Given the description of an element on the screen output the (x, y) to click on. 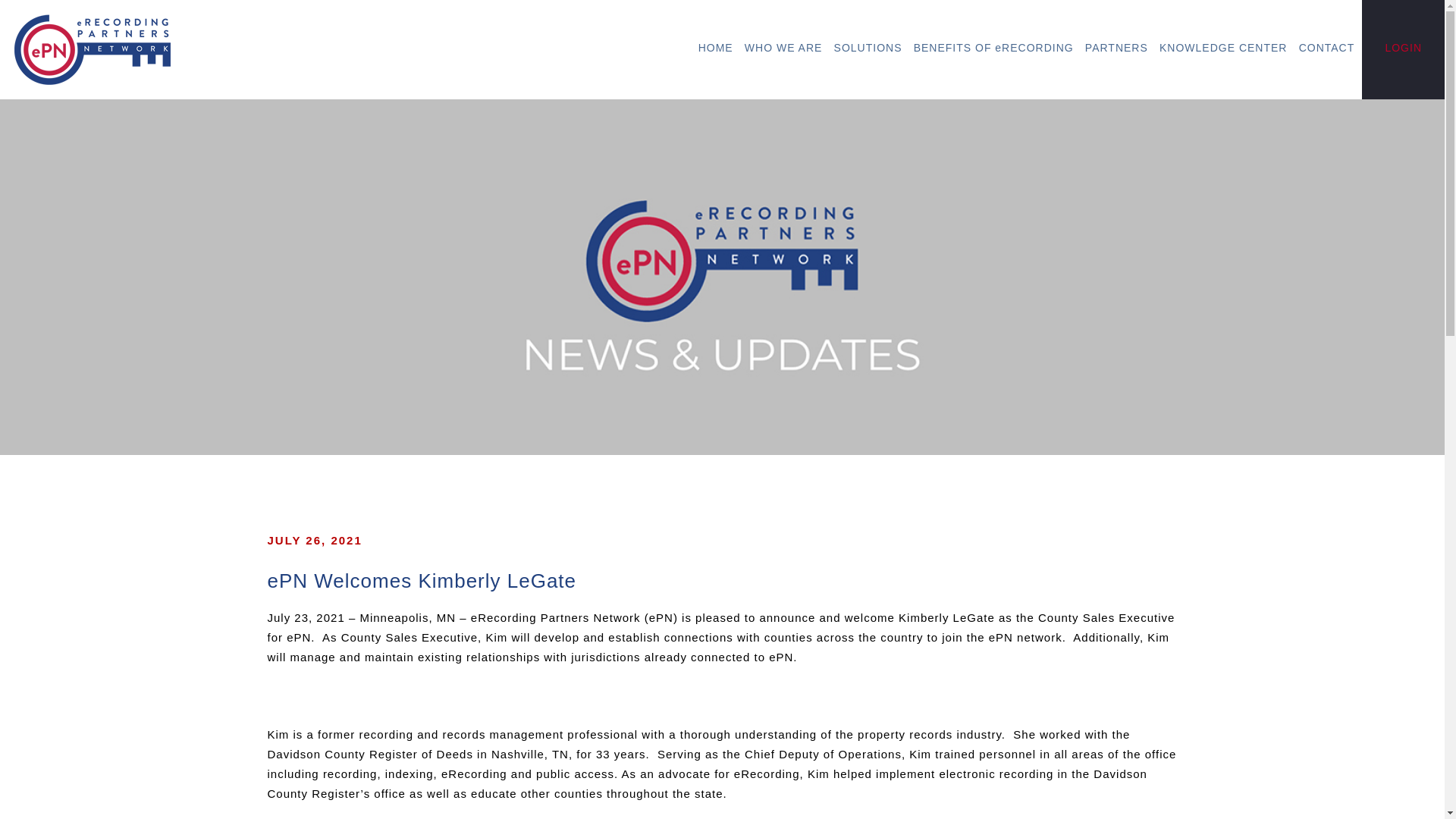
PARTNERS (1116, 47)
SOLUTIONS (868, 47)
WHO WE ARE (783, 47)
KNOWLEDGE CENTER (1222, 47)
HOME (715, 47)
eRecording Partners (92, 47)
BENEFITS OF eRECORDING (994, 47)
CONTACT (1326, 47)
